Given the description of an element on the screen output the (x, y) to click on. 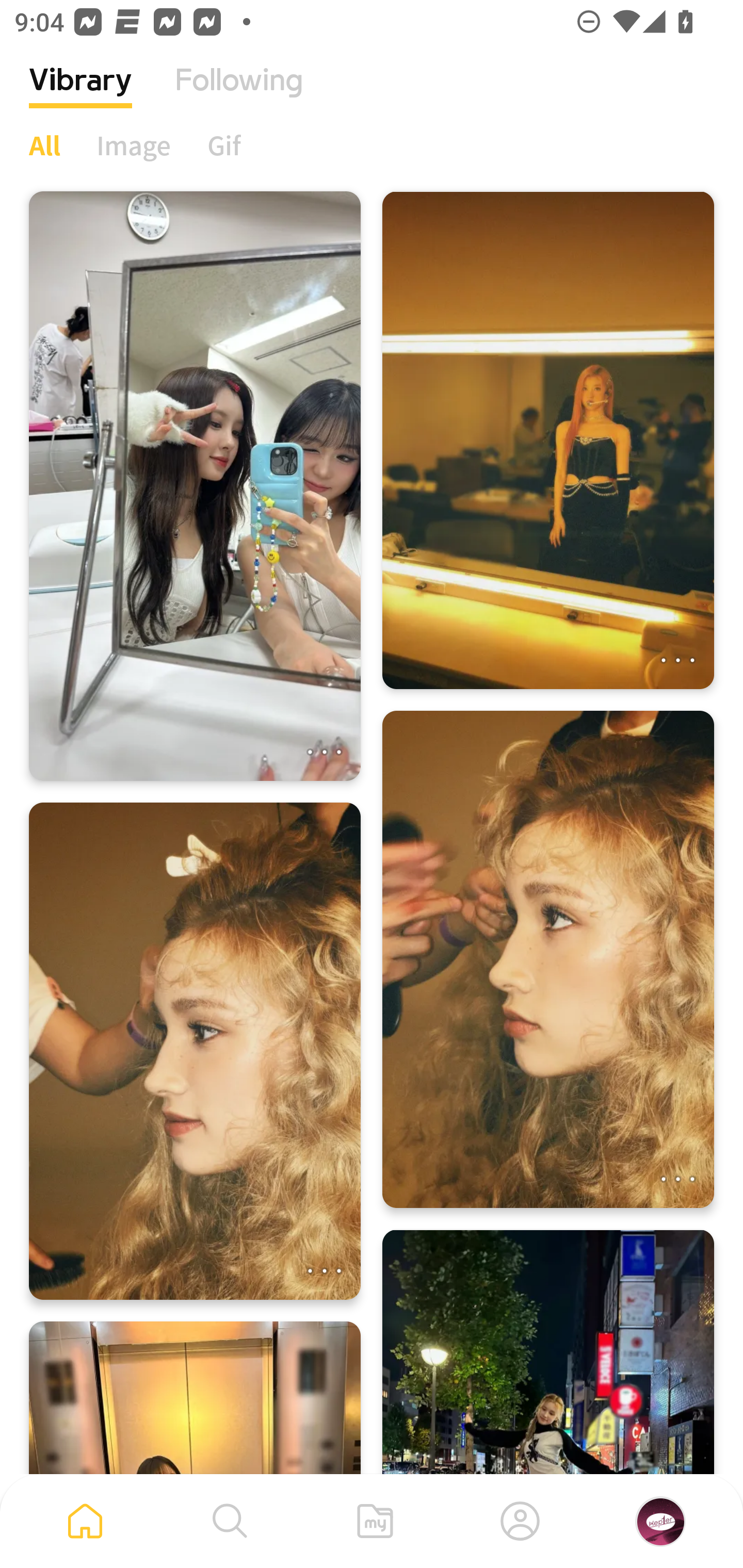
Vibrary (80, 95)
Following (239, 95)
All (44, 145)
Image (133, 145)
Gif (223, 145)
